Given the description of an element on the screen output the (x, y) to click on. 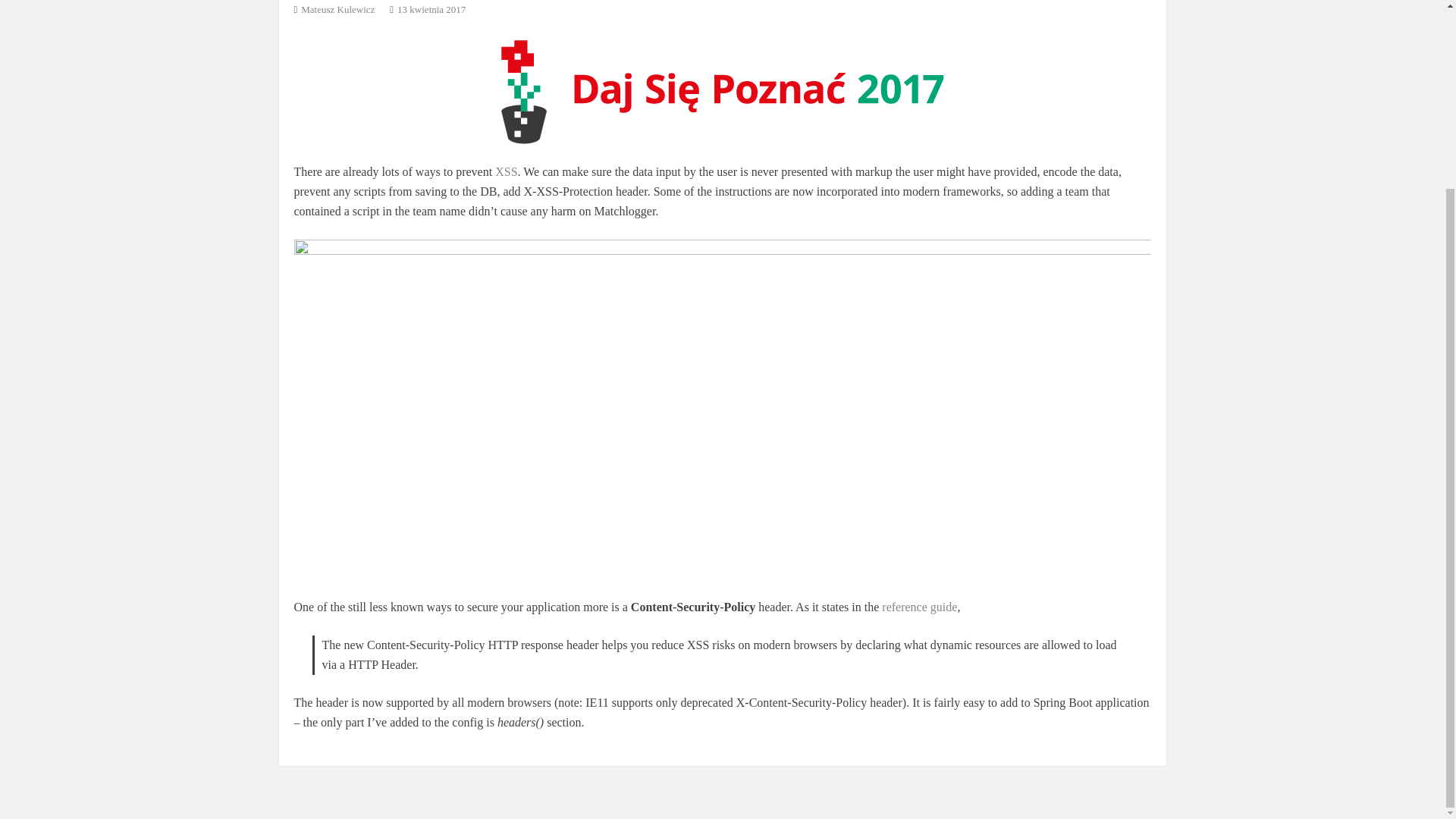
Mateusz Kulewicz (337, 9)
reference guide (919, 606)
XSS (505, 171)
13 kwietnia 2017 (431, 9)
